Given the description of an element on the screen output the (x, y) to click on. 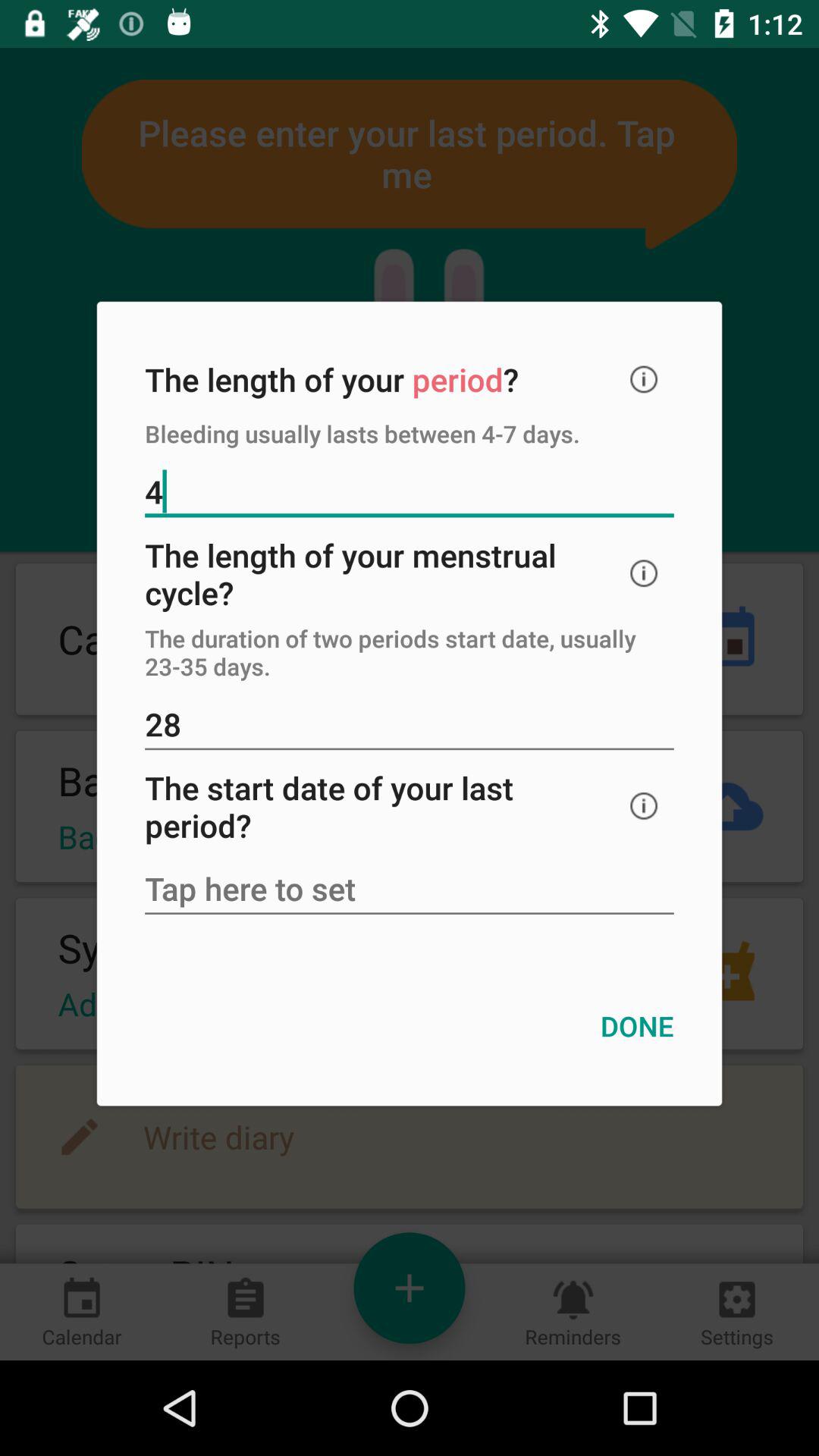
see information (643, 806)
